Given the description of an element on the screen output the (x, y) to click on. 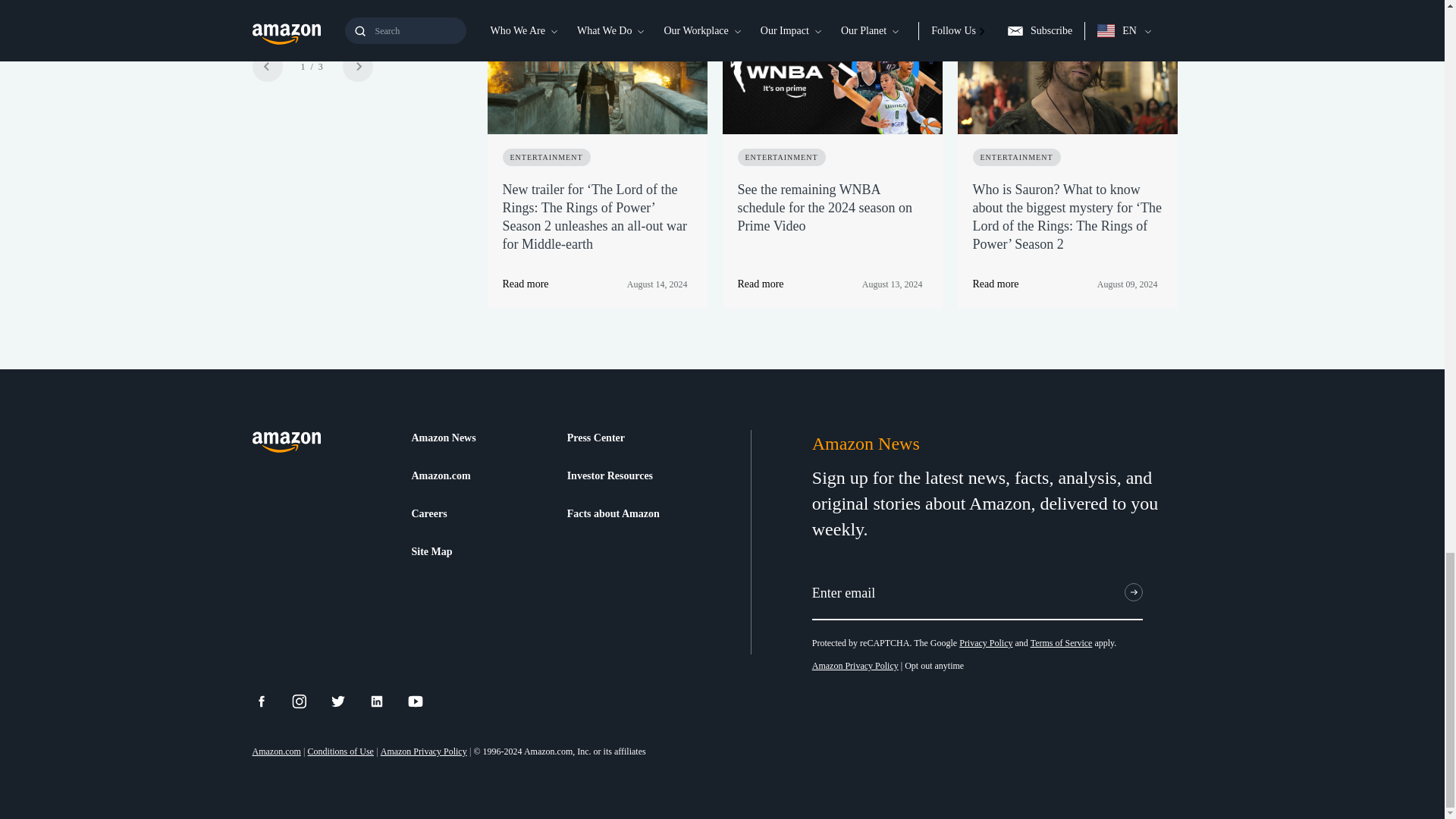
Twitter Share (347, 701)
YouTube (425, 701)
Facebook Share (269, 701)
LinkedIn Share (386, 701)
Instagram (308, 701)
About Amazon Home (285, 442)
